Given the description of an element on the screen output the (x, y) to click on. 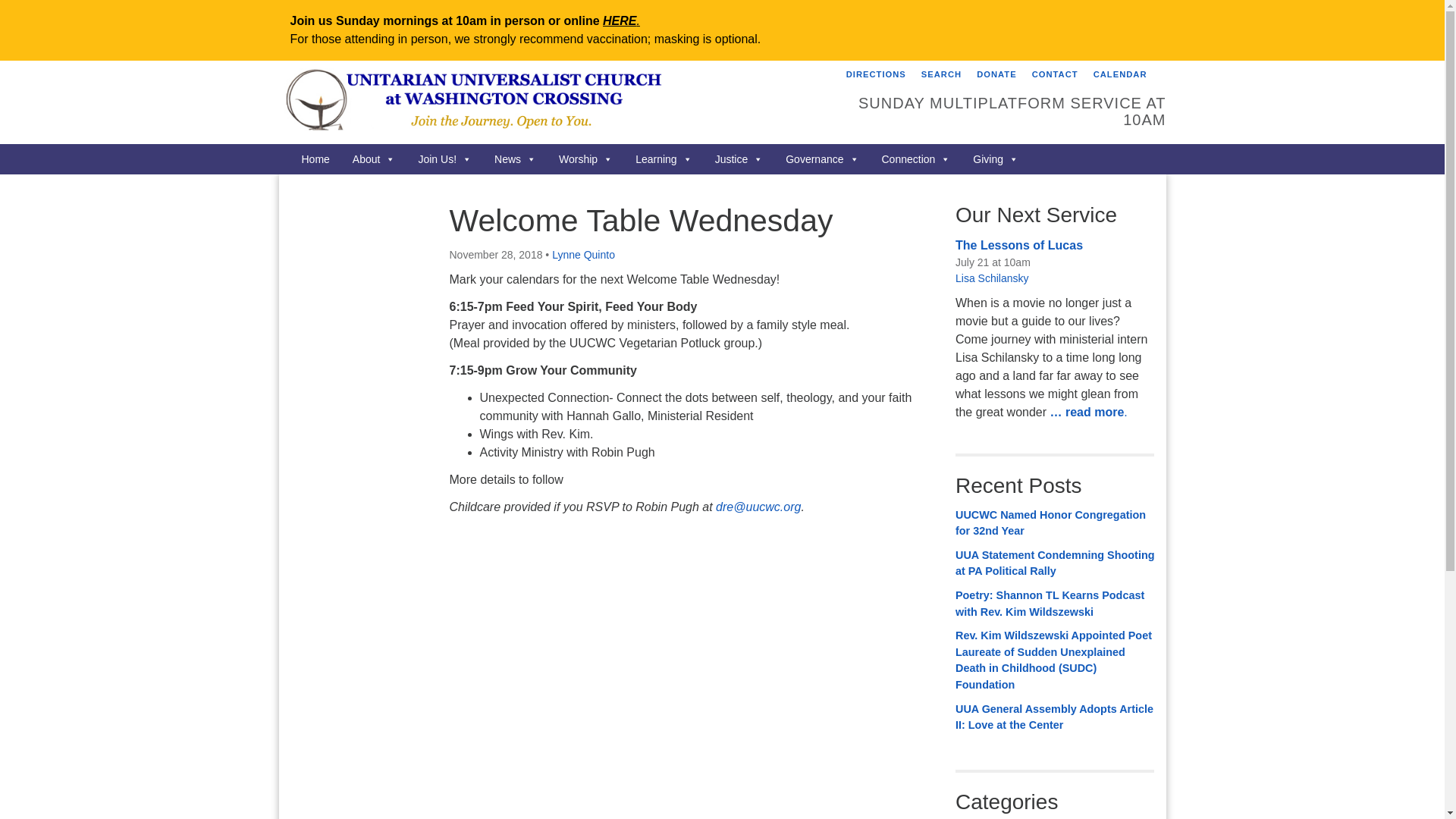
CONTACT (1054, 74)
DIRECTIONS (876, 74)
SEARCH (537, 102)
Join Us! (940, 74)
DONATE (444, 159)
News (996, 74)
CALENDAR (515, 159)
HERE. (1120, 74)
Posts by Lynne Quinto (621, 20)
About (582, 254)
Home (373, 159)
Worship (314, 159)
